Given the description of an element on the screen output the (x, y) to click on. 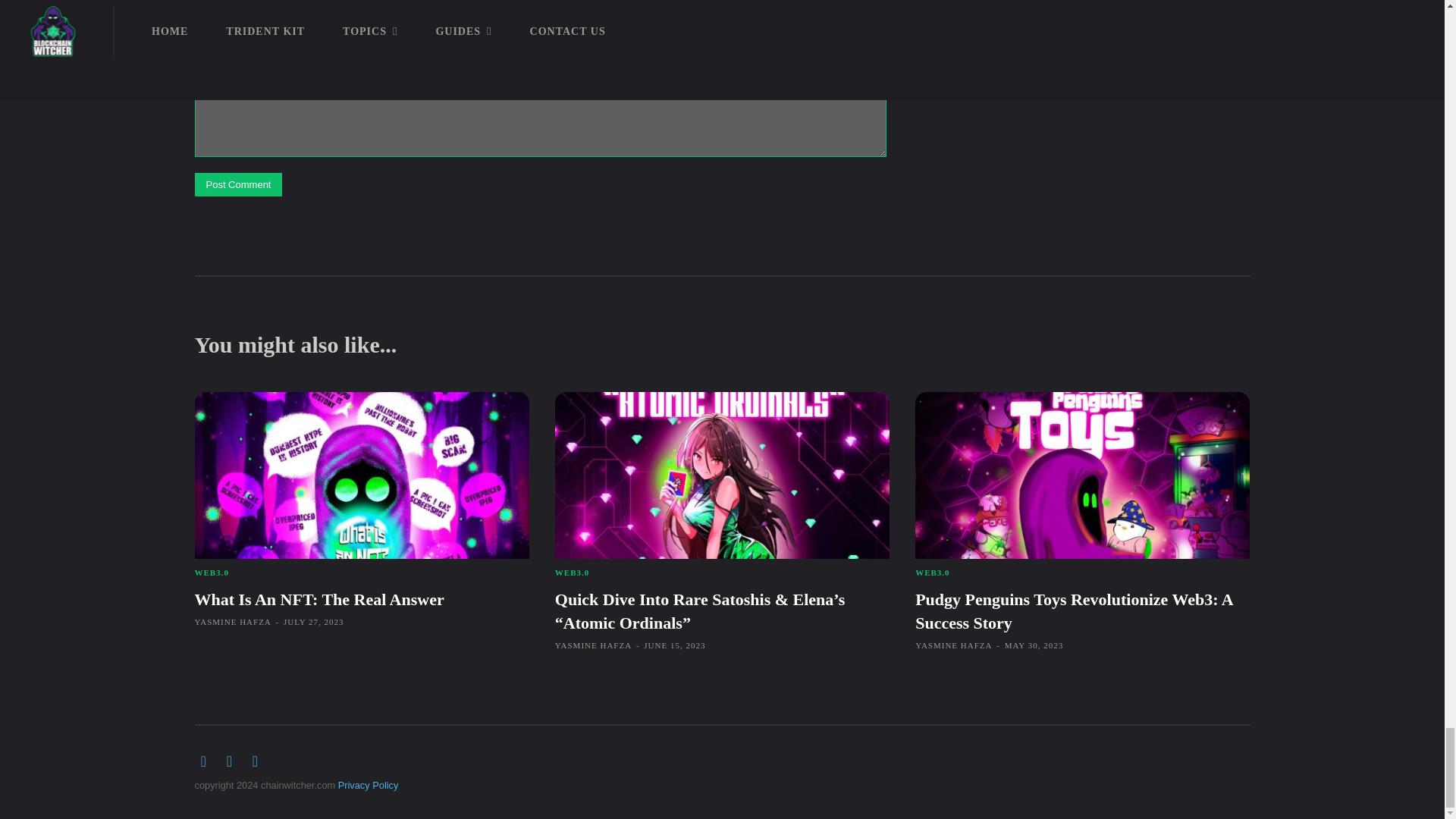
Post Comment (237, 184)
yes (198, 5)
